Given the description of an element on the screen output the (x, y) to click on. 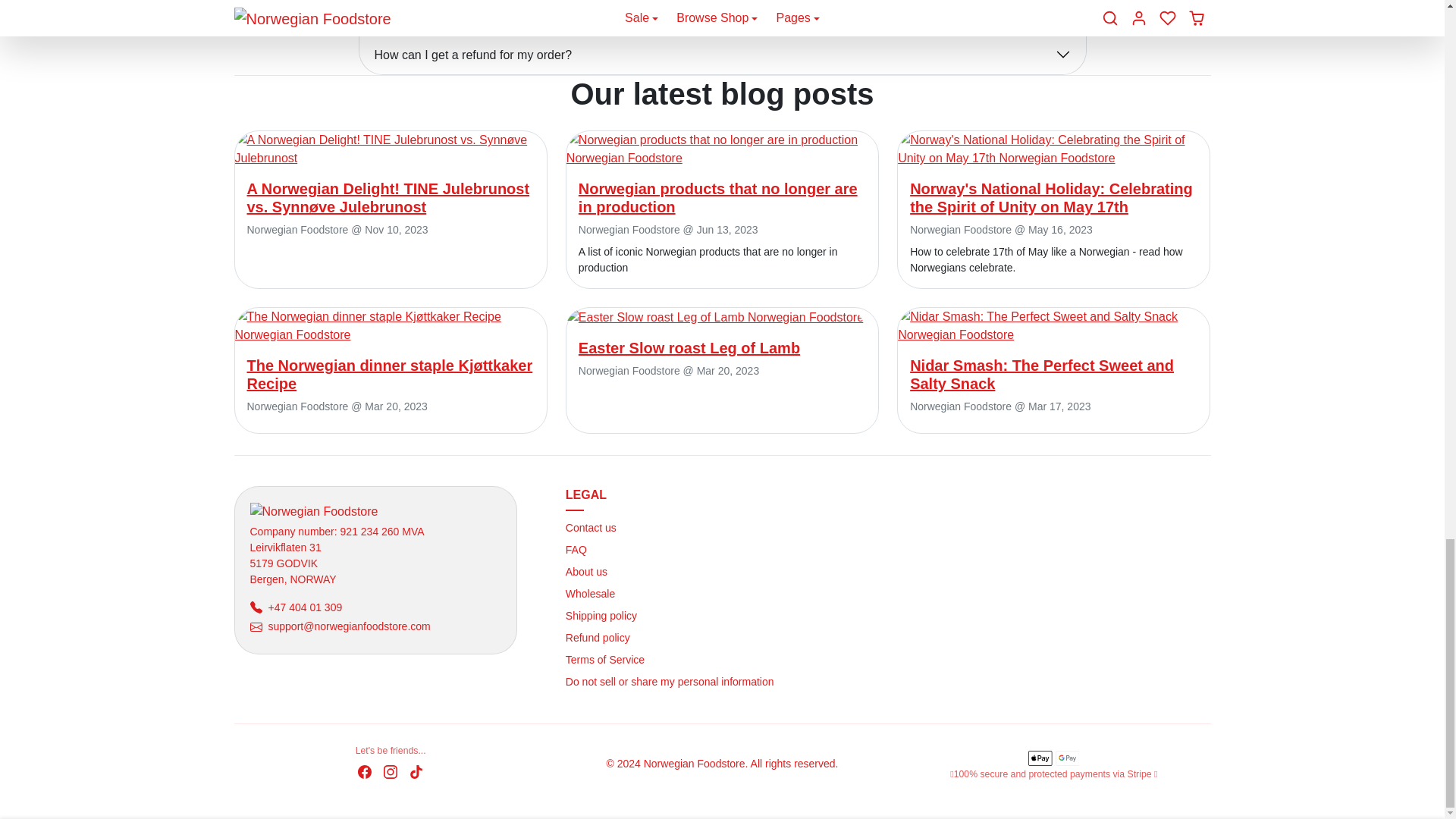
Apple Pay (1039, 757)
Facebook (364, 771)
Instagram (390, 771)
GooglePay (1067, 756)
Google Pay (1066, 757)
ApplePay (1040, 756)
Tiktok (416, 771)
